Given the description of an element on the screen output the (x, y) to click on. 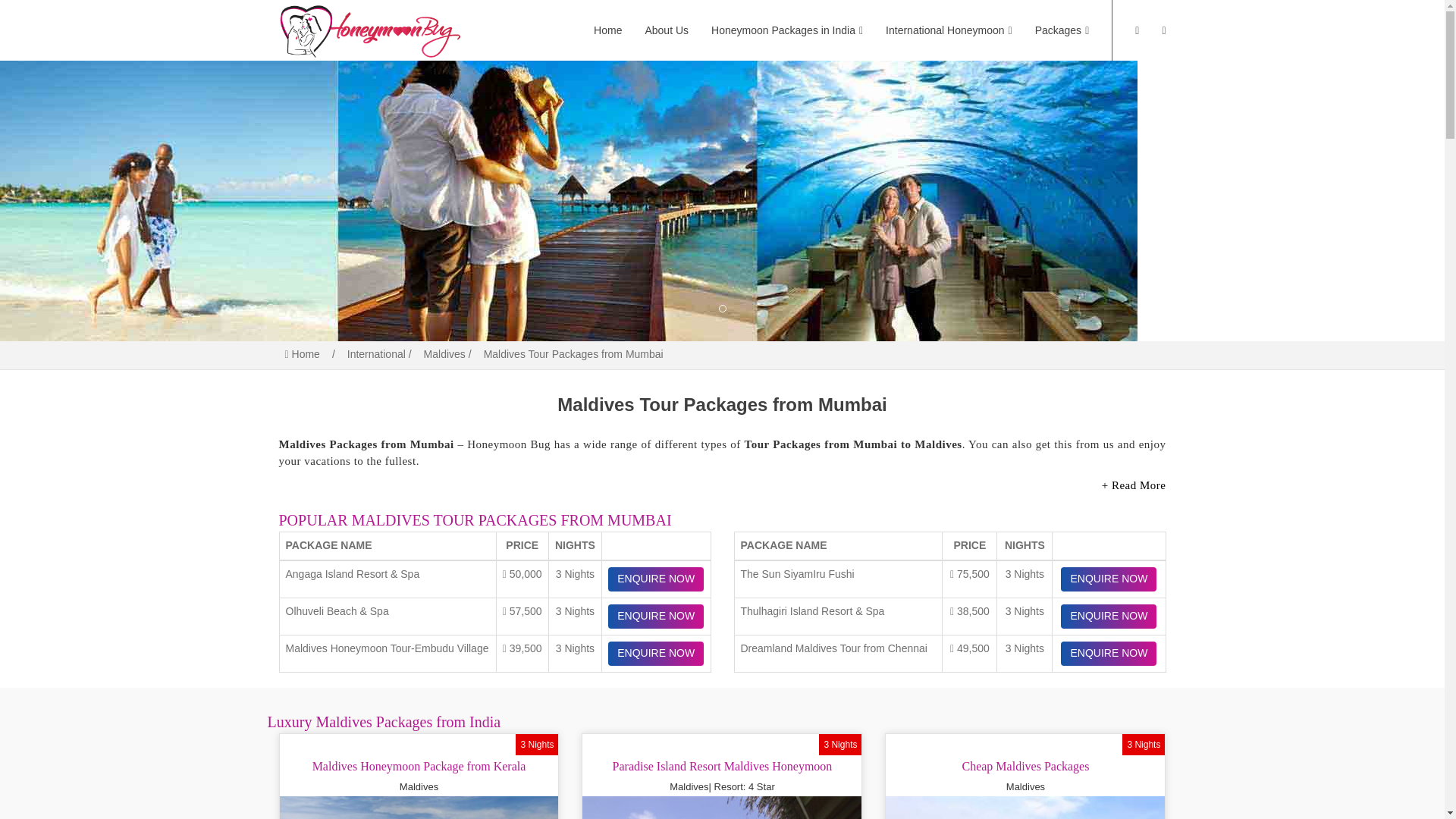
International Honeymoon (949, 30)
Packages (1061, 30)
About Us (666, 30)
Honeymoon Packages in India (787, 30)
